Given the description of an element on the screen output the (x, y) to click on. 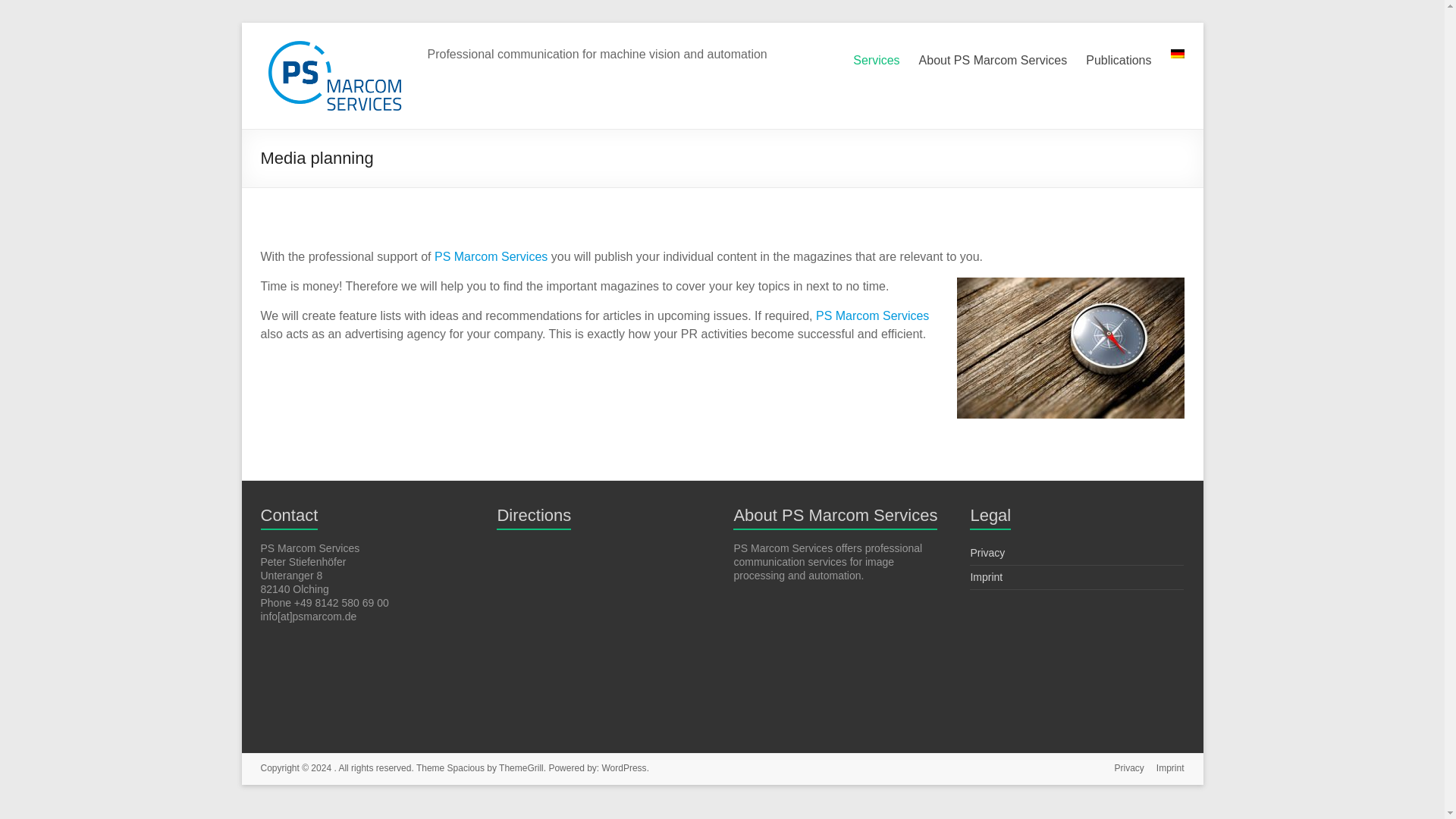
Privacy (986, 552)
Publications (1118, 60)
Imprint (1164, 769)
WordPress (623, 767)
Services (876, 60)
Spacious (465, 767)
About PS Marcom Services (992, 60)
Imprint (986, 576)
WordPress (623, 767)
Privacy (1122, 769)
Spacious (465, 767)
